Given the description of an element on the screen output the (x, y) to click on. 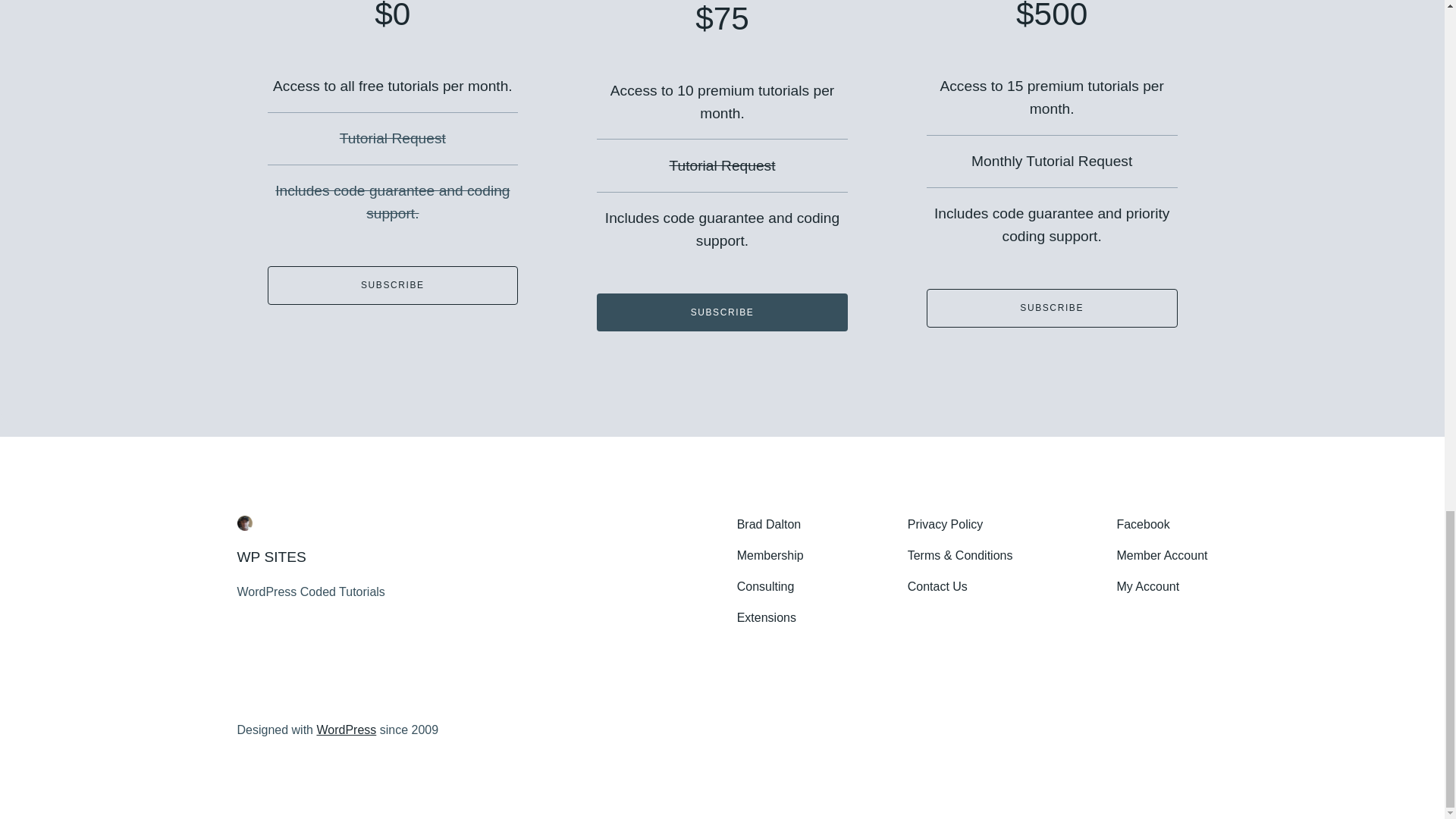
Extensions (766, 618)
Membership (769, 556)
Brad Dalton (769, 524)
Contact Us (937, 587)
SUBSCRIBE (392, 285)
Member Account (1161, 556)
Privacy Policy (945, 524)
Facebook (1142, 524)
SUBSCRIBE (1051, 308)
WordPress (345, 729)
